Given the description of an element on the screen output the (x, y) to click on. 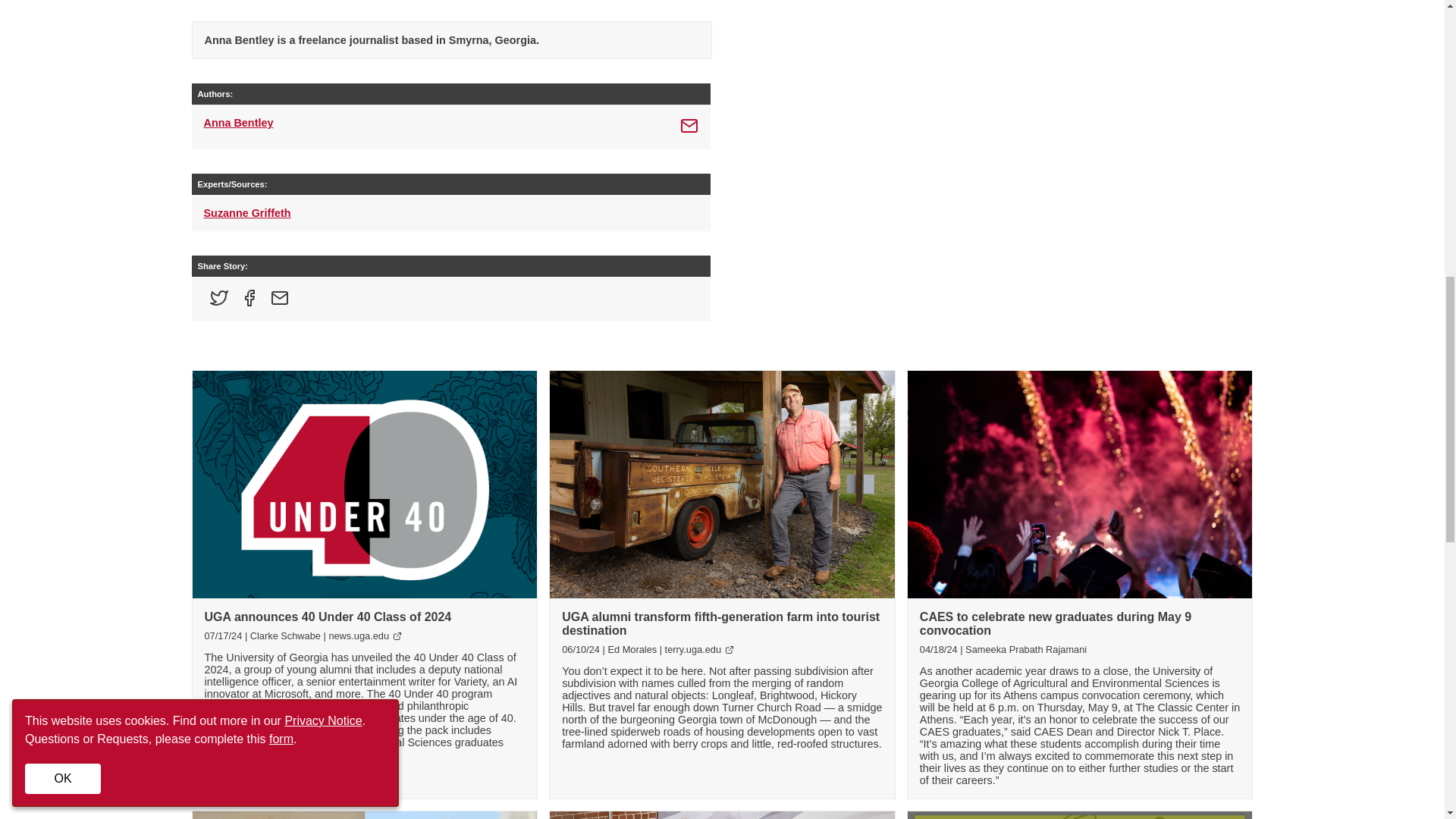
Suzanne Griffeth (246, 213)
Anna Bentley (238, 127)
UGA announces 40 Under 40 Class of 2024 (328, 616)
CAES to celebrate new graduates during May 9 convocation (1055, 623)
